Given the description of an element on the screen output the (x, y) to click on. 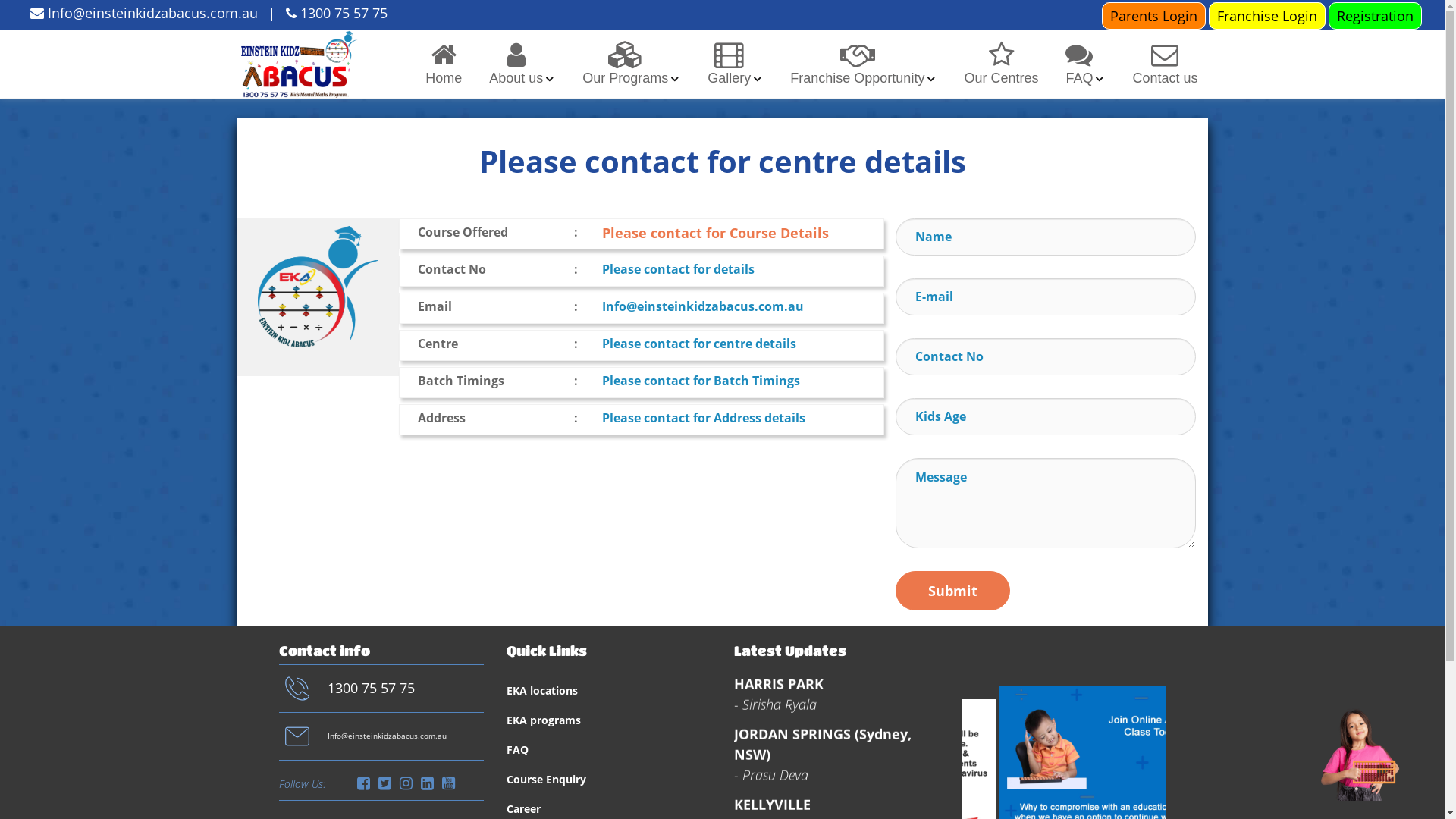
About us Element type: text (515, 63)
Gallery Element type: text (728, 63)
Our Programs Element type: text (625, 63)
FAQ Element type: text (1078, 63)
Course Enquiry Element type: text (546, 779)
Info@einsteinkidzabacus.com.au Element type: text (386, 736)
Submit Element type: text (952, 590)
Our Centres Element type: text (1000, 63)
Contact us Element type: text (1164, 63)
Info@einsteinkidzabacus.com.au Element type: text (143, 12)
1300 75 57 75 Element type: text (336, 12)
Info@einsteinkidzabacus.com.au Element type: text (702, 306)
Franchise Opportunity Element type: text (857, 63)
Registration Element type: text (1374, 15)
FAQ Element type: text (517, 749)
Parents Login Element type: text (1153, 15)
Franchise Login Element type: text (1266, 15)
Home Element type: text (443, 63)
EKA programs Element type: text (543, 720)
EKA locations Element type: text (541, 690)
Career Element type: text (523, 808)
1300 75 57 75 Element type: text (370, 688)
